Given the description of an element on the screen output the (x, y) to click on. 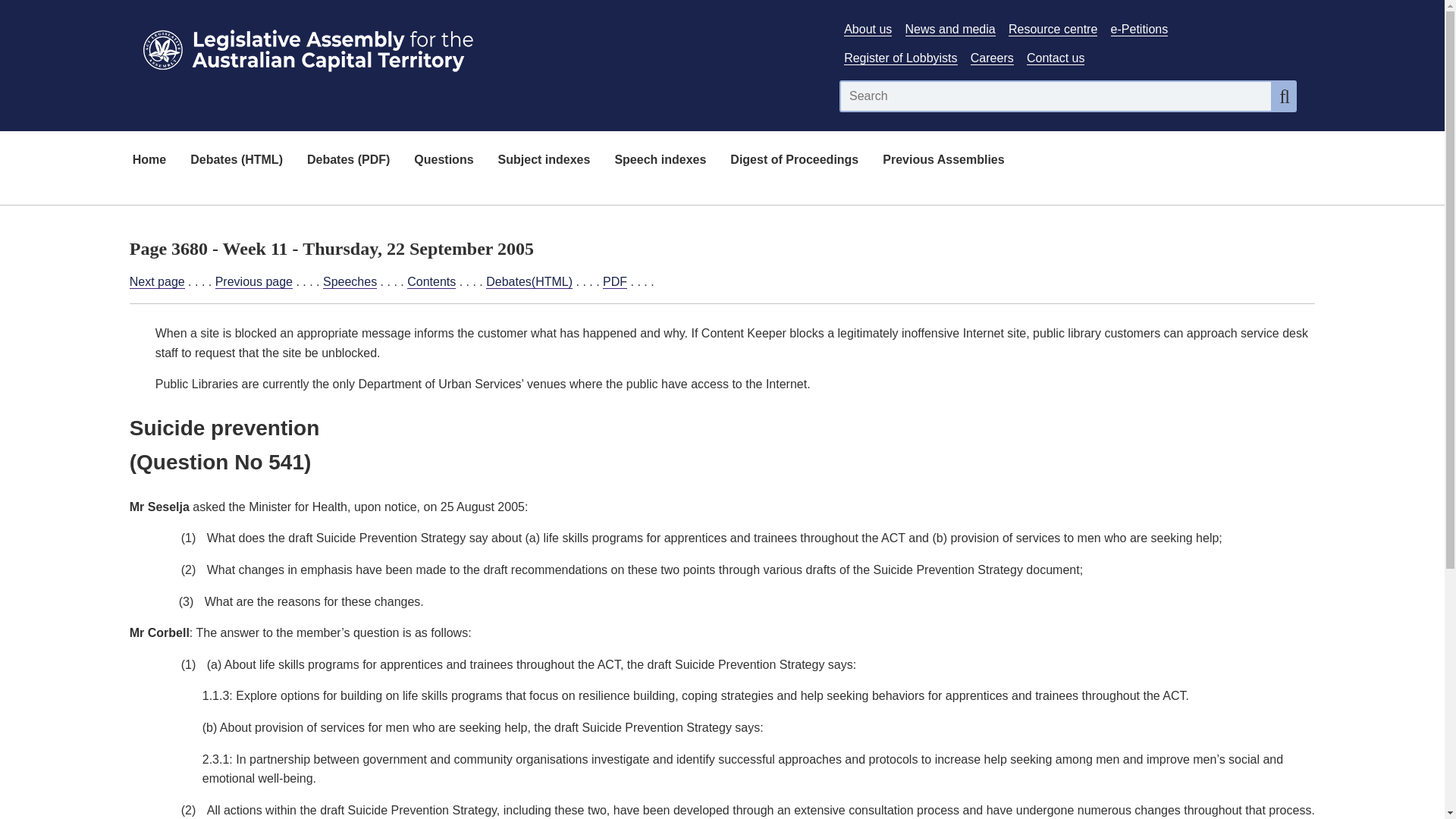
About us (867, 29)
Digest of Proceedings (793, 160)
Questions (442, 160)
Register of Lobbyists (900, 58)
Link to Resource centre (1053, 29)
Speeches (350, 282)
Link to e-Petitions (1139, 29)
Link to Careers (992, 58)
Careers (992, 58)
Link to Contact Us (1055, 58)
